Given the description of an element on the screen output the (x, y) to click on. 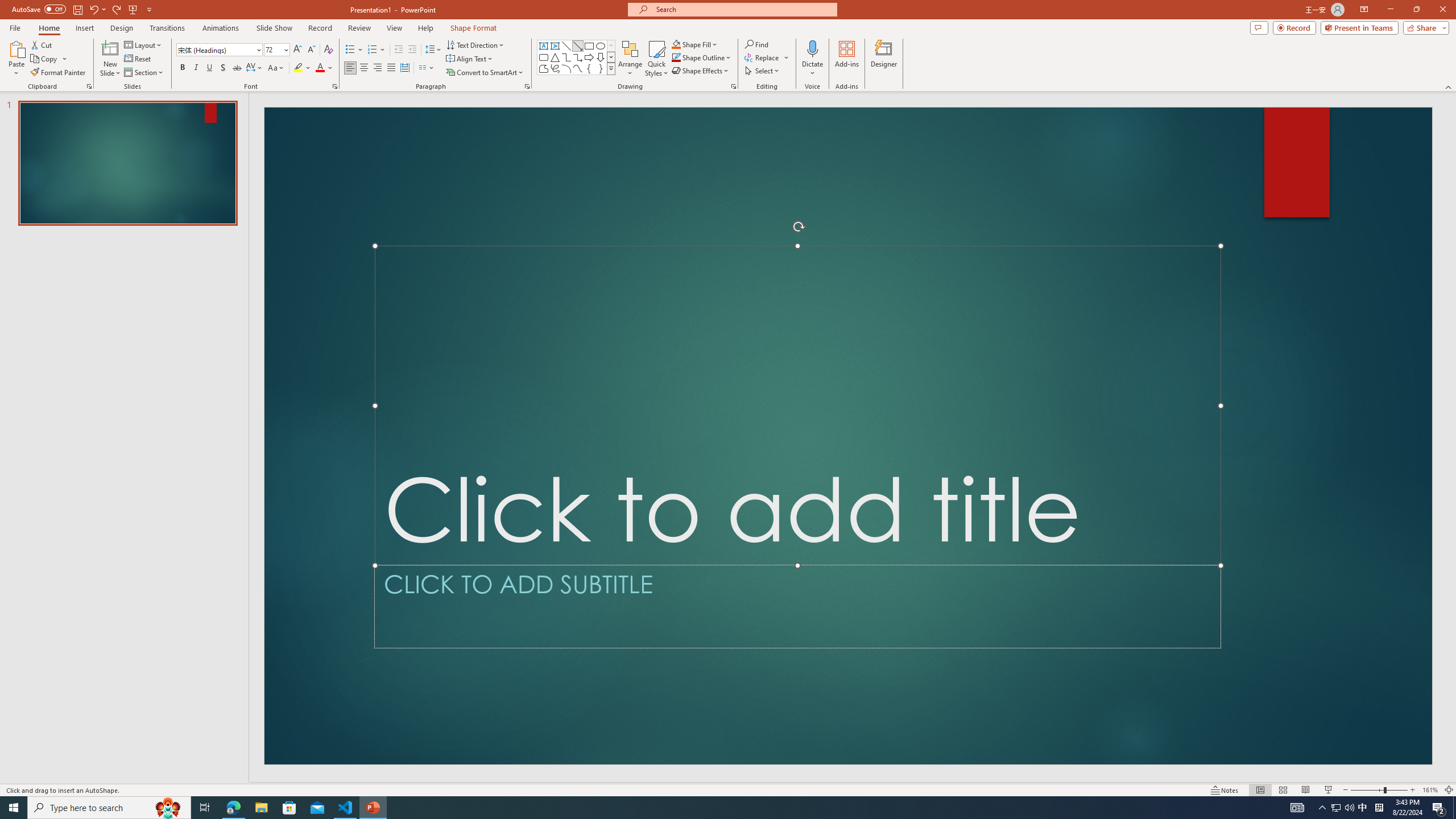
Arrange (630, 58)
Font Size (273, 49)
Format Painter (58, 72)
Line Arrow (577, 45)
Format Object... (733, 85)
Underline (209, 67)
Convert to SmartArt (485, 72)
Bullets (354, 49)
Microsoft search (742, 9)
